Given the description of an element on the screen output the (x, y) to click on. 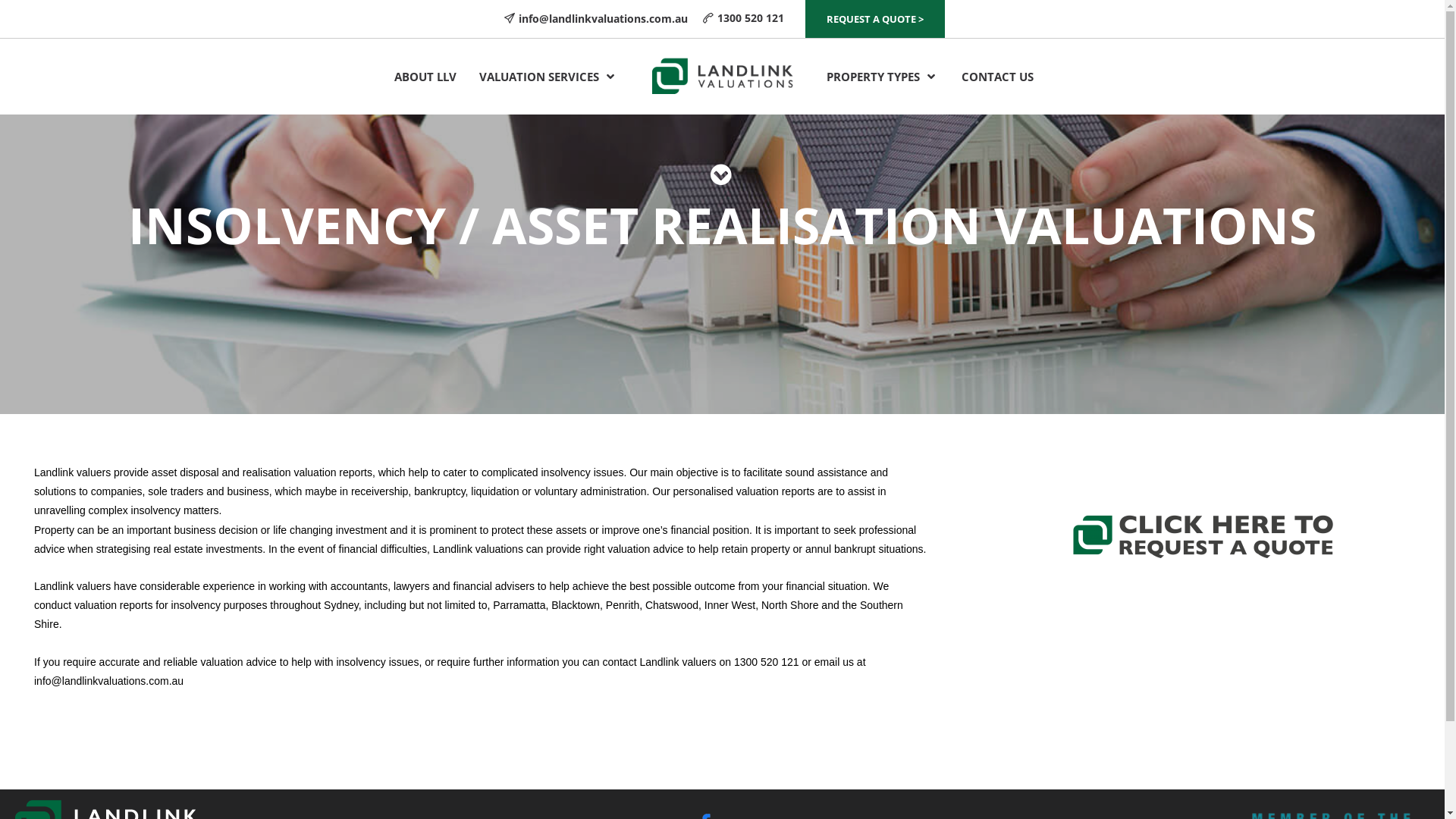
VALUATION SERVICES Element type: text (548, 76)
ABOUT LLV Element type: text (425, 76)
REQUEST A QUOTE > Element type: text (874, 18)
CONTACT US Element type: text (997, 76)
info@landlinkvaluations.com.au Element type: text (602, 18)
1300 520 121 Element type: text (750, 17)
REQUEST A QUOTE > Element type: text (874, 17)
LLVQuoteButtonDark Element type: hover (1203, 535)
PROPERTY TYPES Element type: text (882, 76)
